Given the description of an element on the screen output the (x, y) to click on. 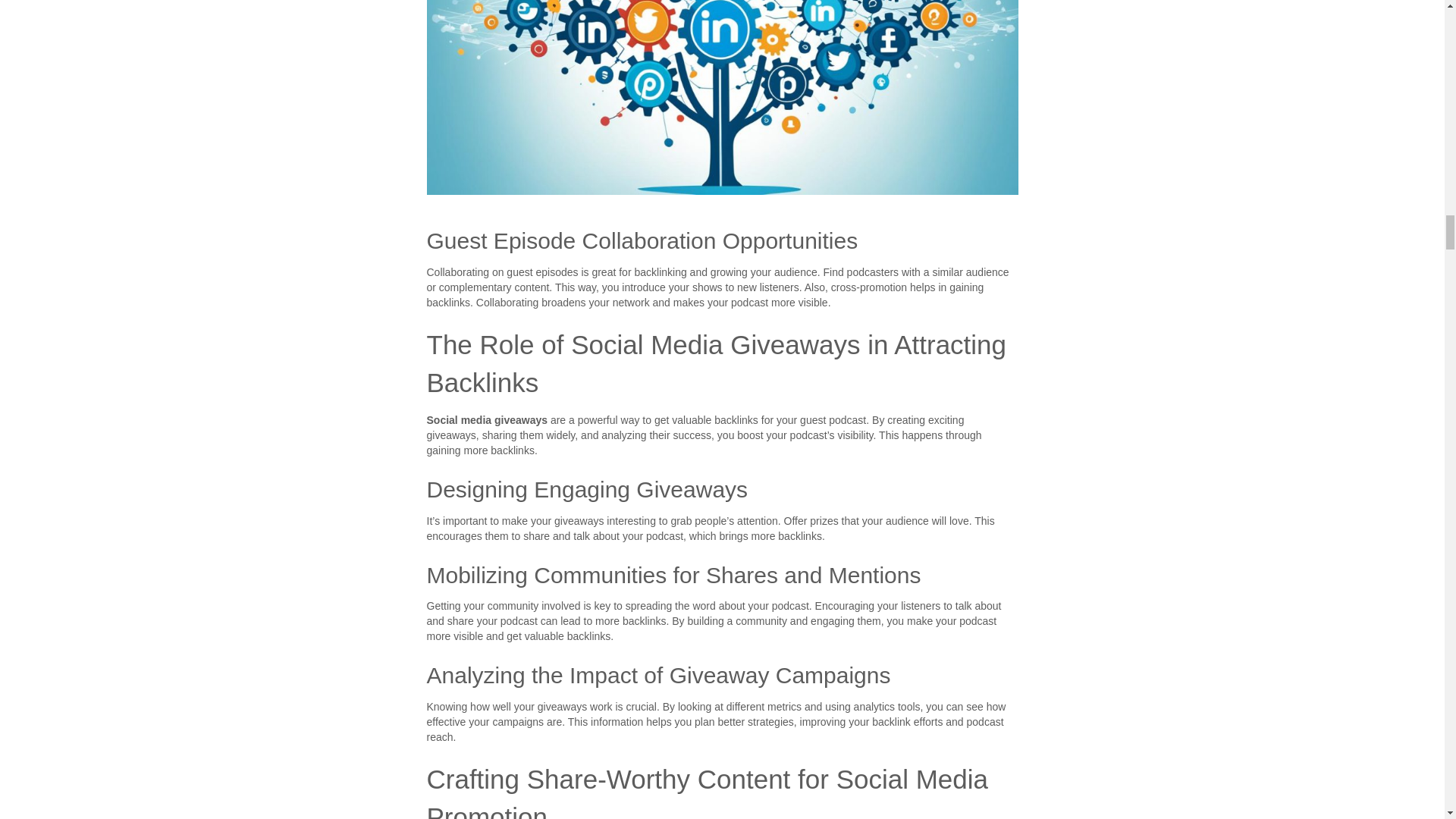
building relationships for podcast backlinking (721, 97)
